Given the description of an element on the screen output the (x, y) to click on. 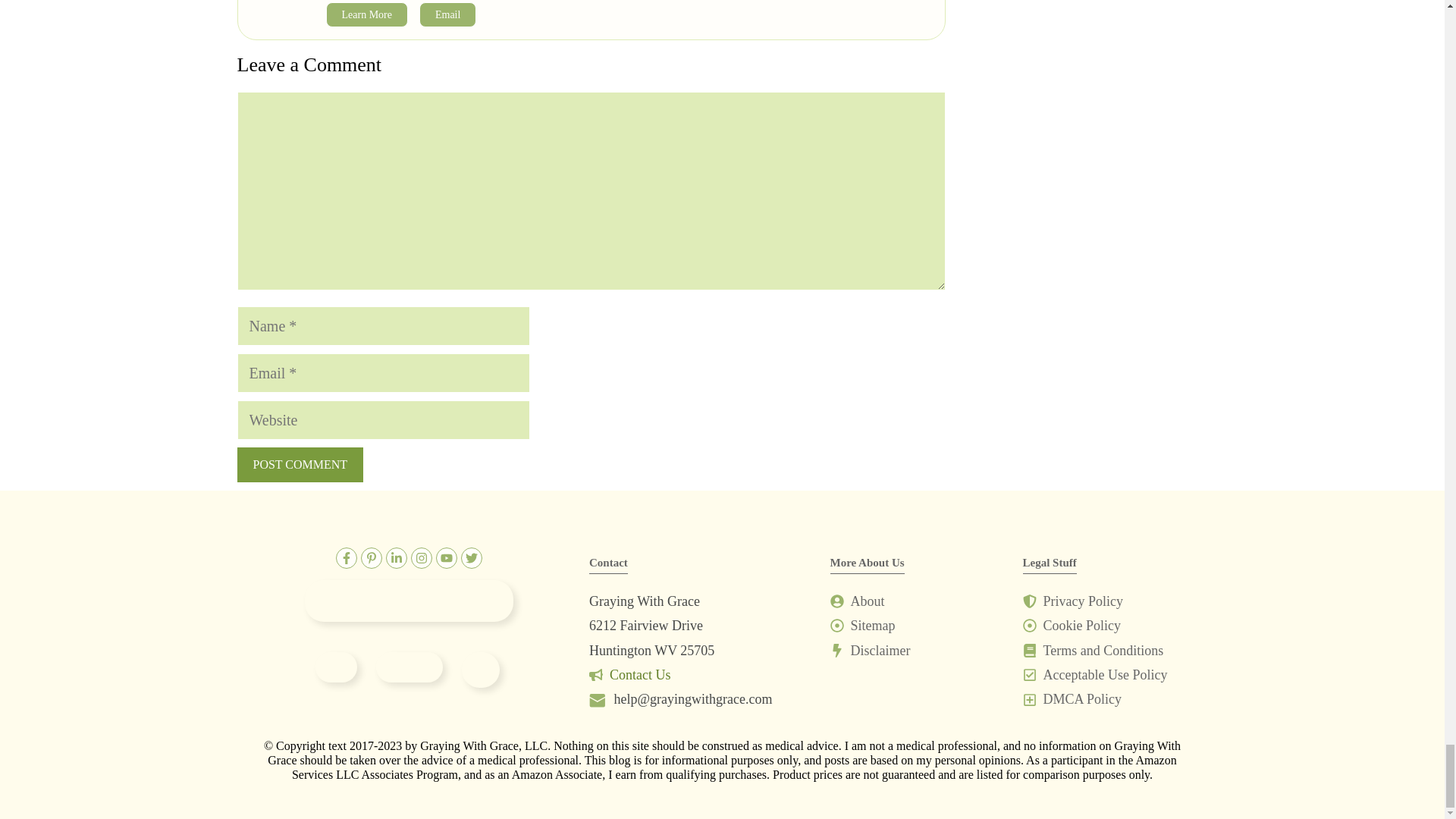
resna-atp-logo-1 (408, 666)
certified senior home safety specialist 50 (480, 669)
Site Logo (408, 600)
Post Comment (298, 464)
